Given the description of an element on the screen output the (x, y) to click on. 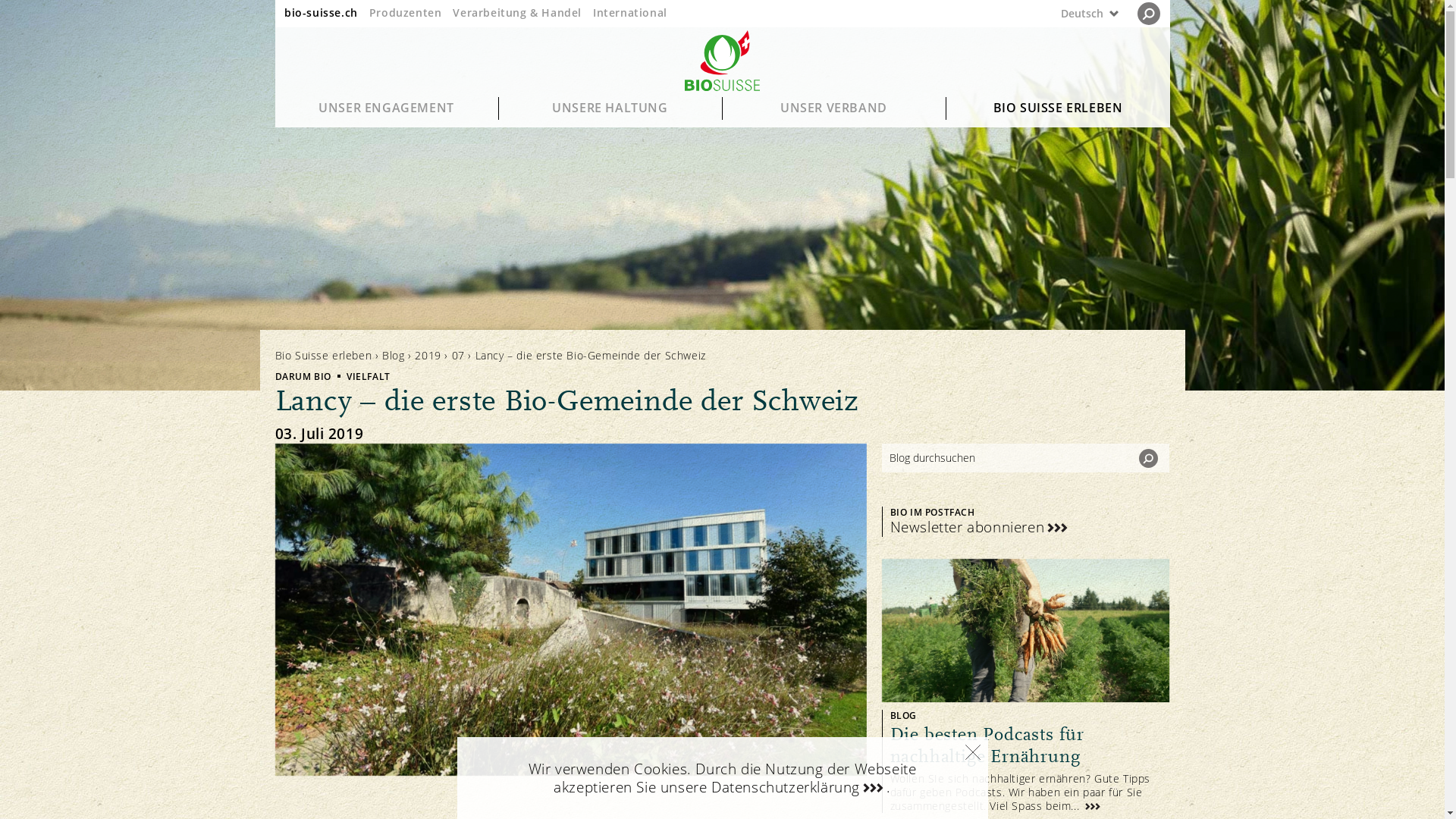
UNSERE HALTUNG Element type: text (610, 108)
UNSER VERBAND Element type: text (833, 108)
Bio Suisse erleben Element type: text (322, 355)
DARUM BIO Element type: text (302, 376)
International Element type: text (630, 12)
UNSER ENGAGEMENT Element type: text (386, 108)
Blog Element type: text (393, 355)
Deutsch Element type: text (1053, 13)
bio-suisse.ch Element type: text (320, 12)
2019 Element type: text (427, 355)
Produzenten Element type: text (405, 12)
VIELFALT Element type: text (368, 376)
Verarbeitung & Handel Element type: text (516, 12)
07 Element type: text (457, 355)
BIO SUISSE ERLEBEN Element type: text (1058, 108)
Newsletter abonnieren Element type: text (980, 526)
